Given the description of an element on the screen output the (x, y) to click on. 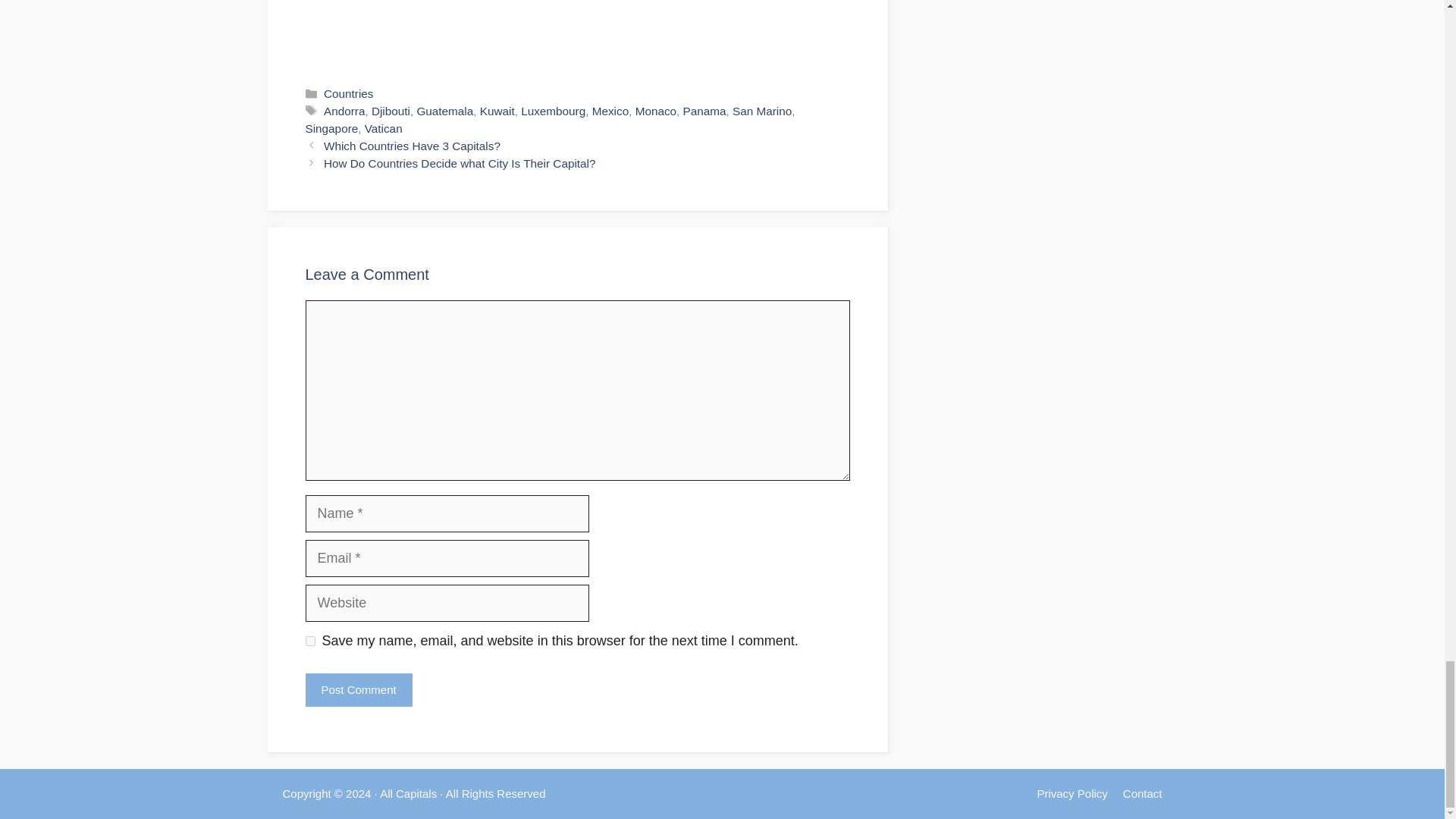
Mexico (610, 110)
Kuwait (497, 110)
Guatemala (444, 110)
Luxembourg (553, 110)
Post Comment (358, 690)
Andorra (344, 110)
Monaco (655, 110)
yes (309, 641)
Singapore (331, 128)
Djibouti (390, 110)
Countries (347, 92)
San Marino (762, 110)
Panama (704, 110)
Vatican (384, 128)
